Given the description of an element on the screen output the (x, y) to click on. 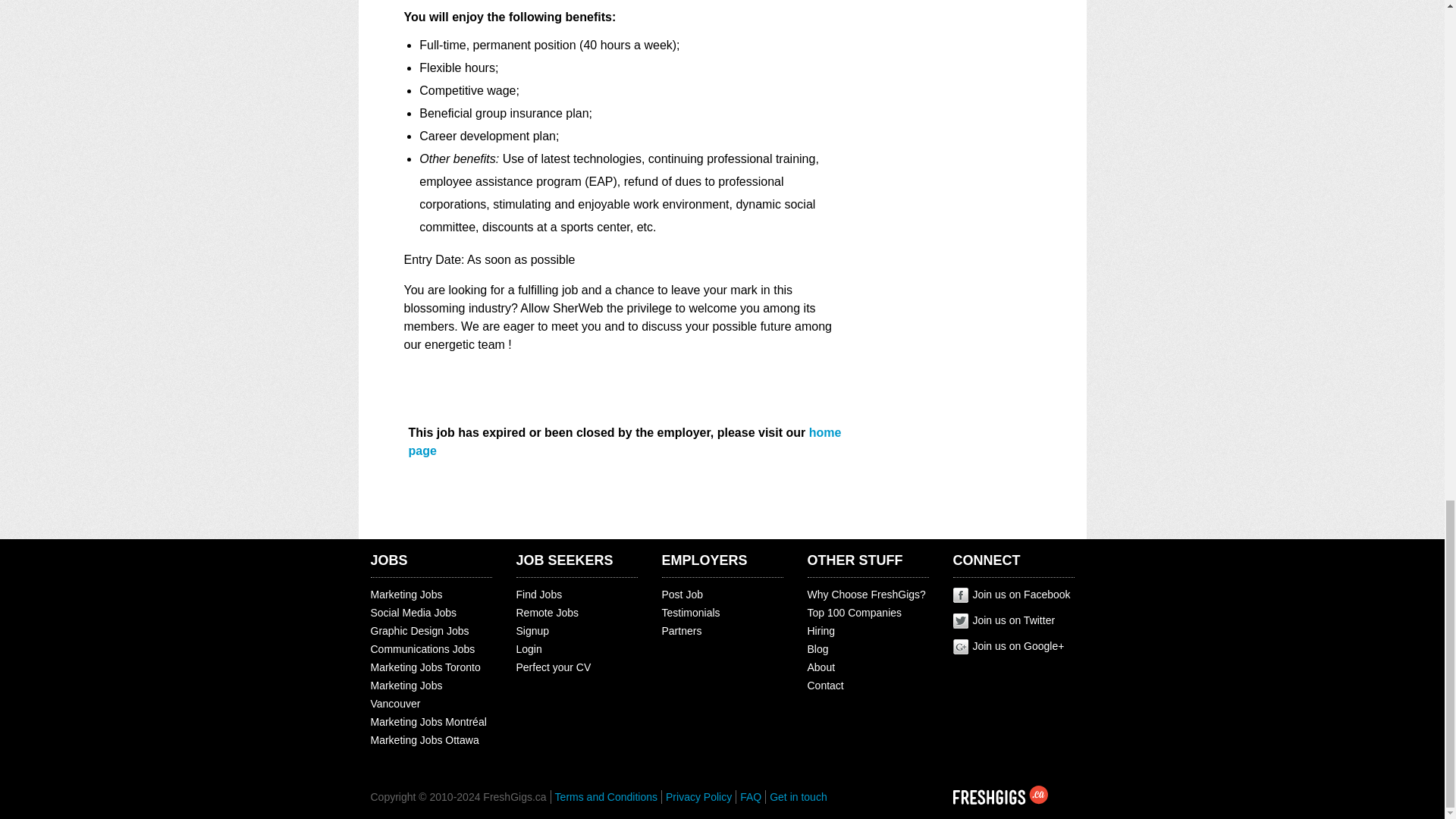
Perfect your CV (553, 666)
Signup (531, 630)
EMPLOYERS (703, 560)
home page (624, 441)
Find Jobs (538, 594)
Marketing Jobs Ottawa (424, 739)
Marketing Jobs (405, 594)
JOBS (388, 560)
Post Job (681, 594)
Marketing Jobs Toronto (424, 666)
